Given the description of an element on the screen output the (x, y) to click on. 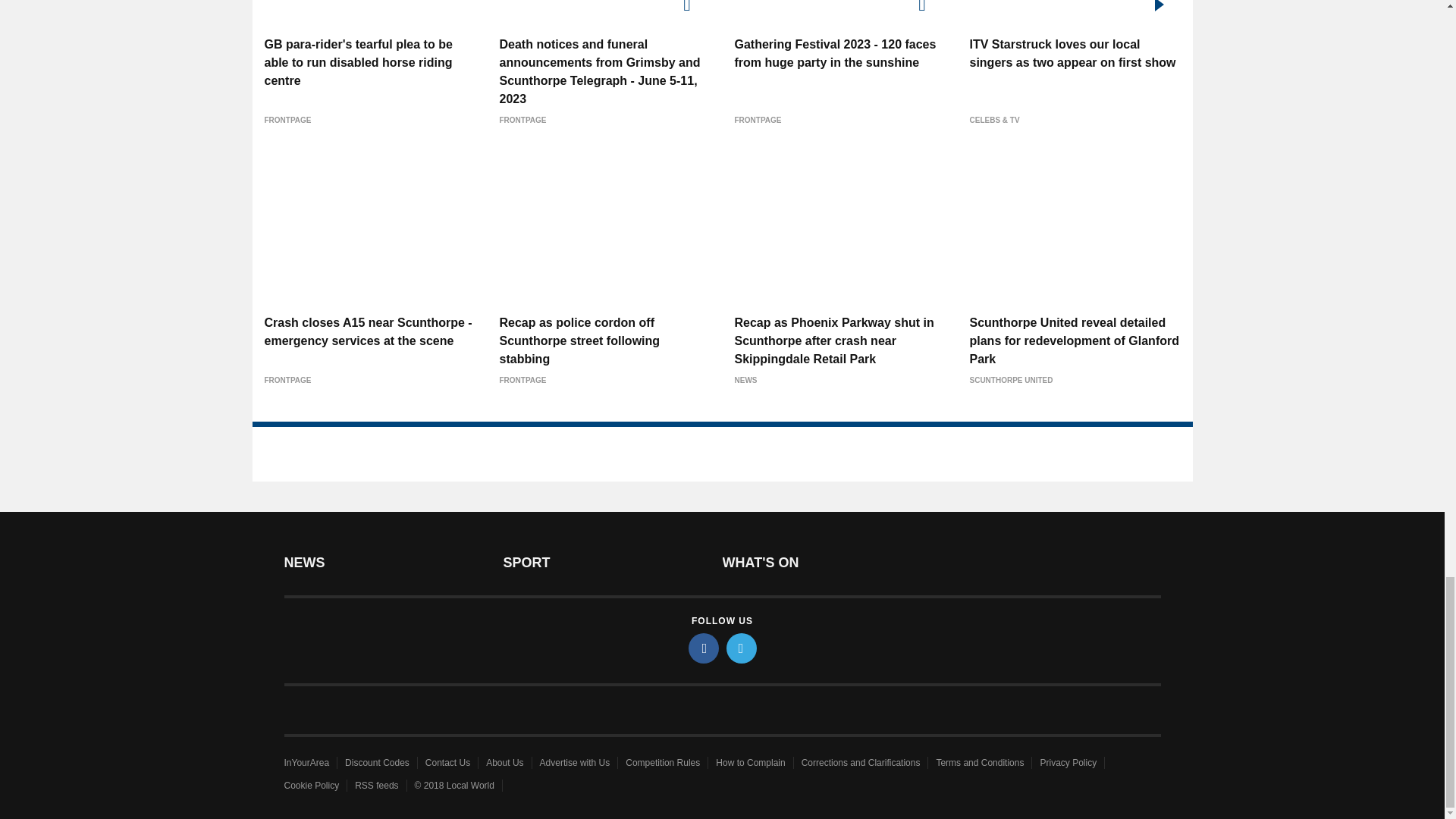
twitter (741, 648)
facebook (703, 648)
